Given the description of an element on the screen output the (x, y) to click on. 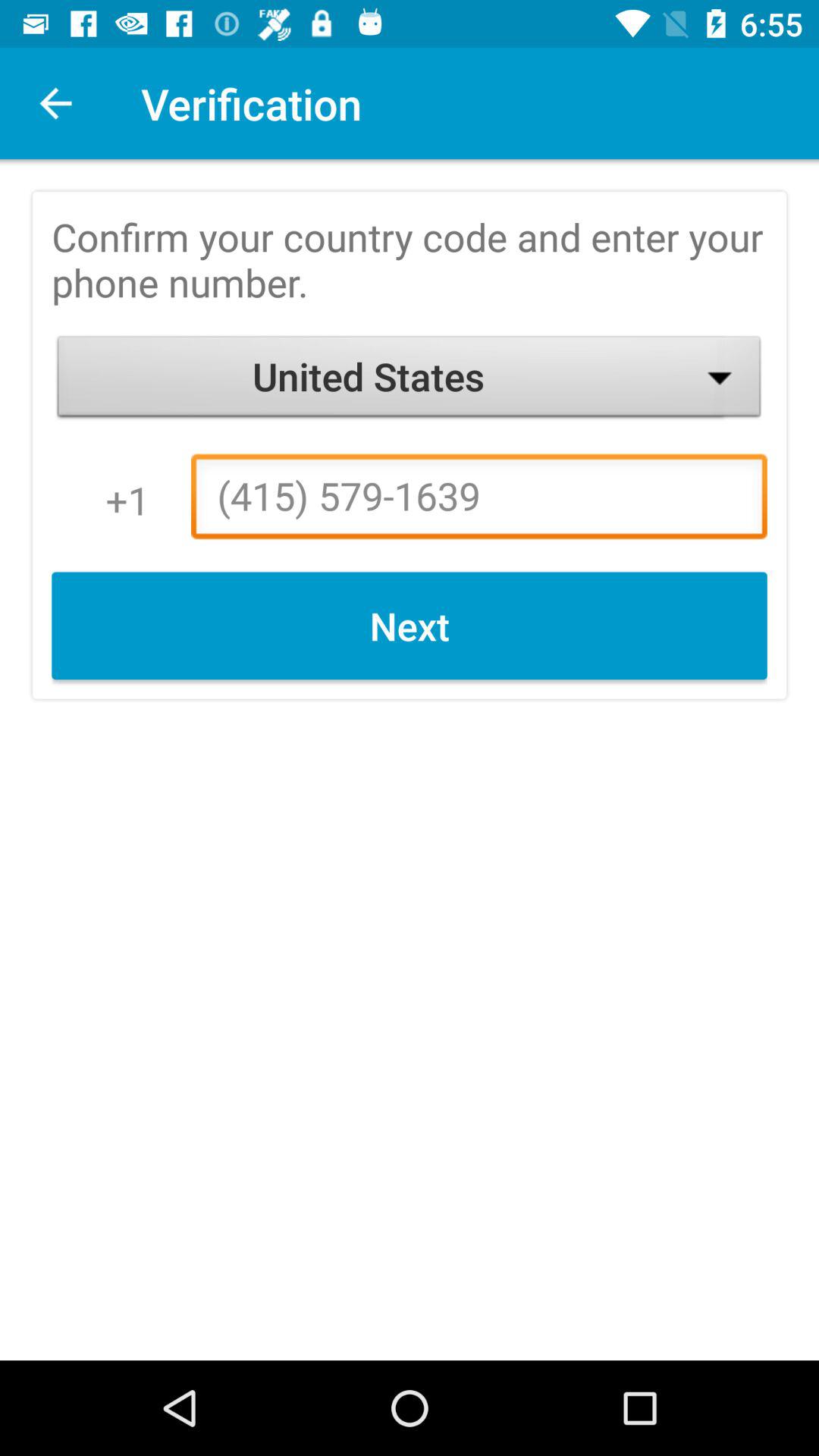
swipe to (415) 579-1639 (479, 500)
